Given the description of an element on the screen output the (x, y) to click on. 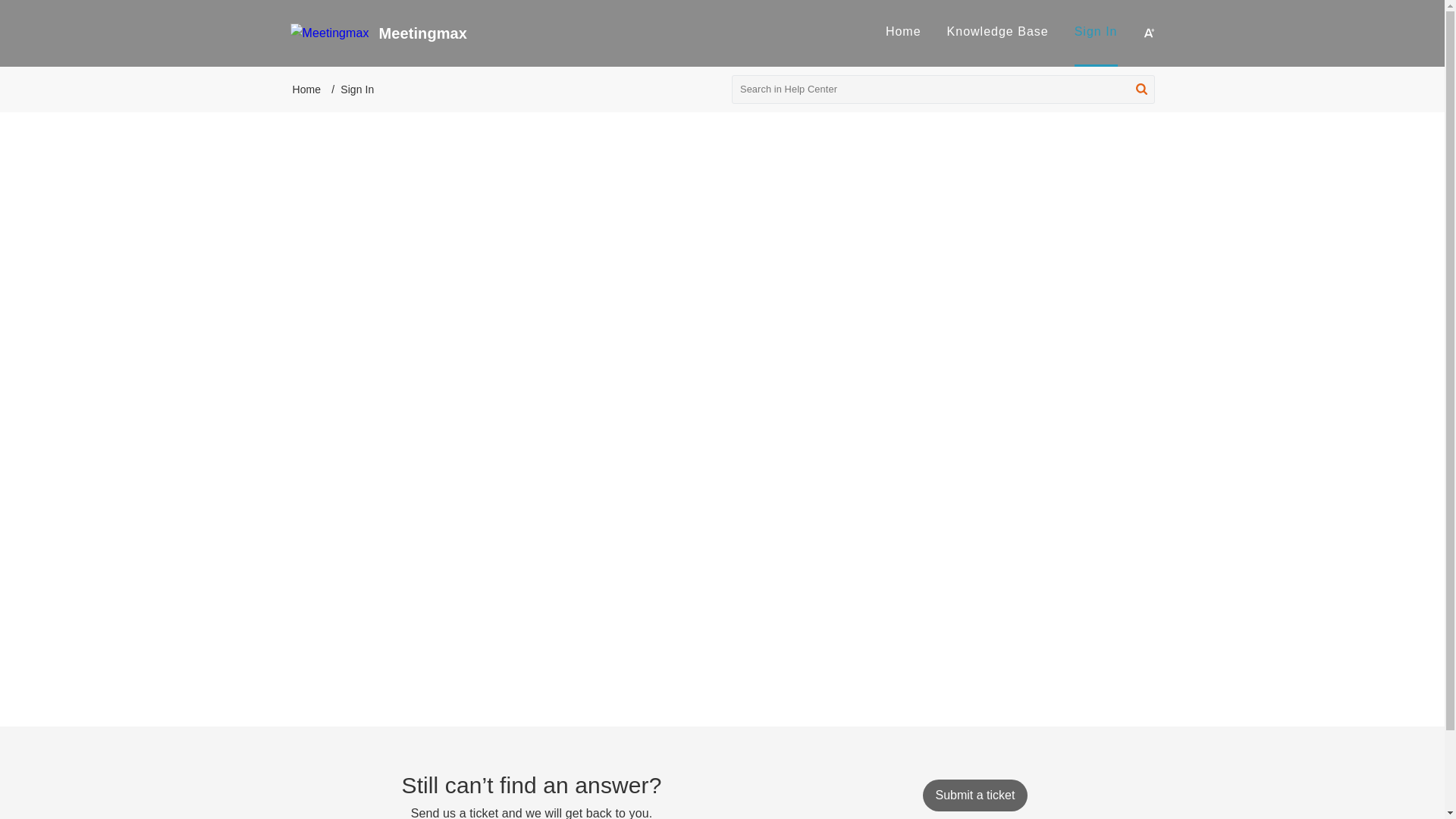
Knowledge Base (997, 31)
Submit a ticket (974, 795)
Submit a ticket (974, 794)
Meetingmax (625, 33)
Knowledge Base (997, 33)
Home (306, 89)
Home (903, 31)
Sign In (1096, 31)
